Given the description of an element on the screen output the (x, y) to click on. 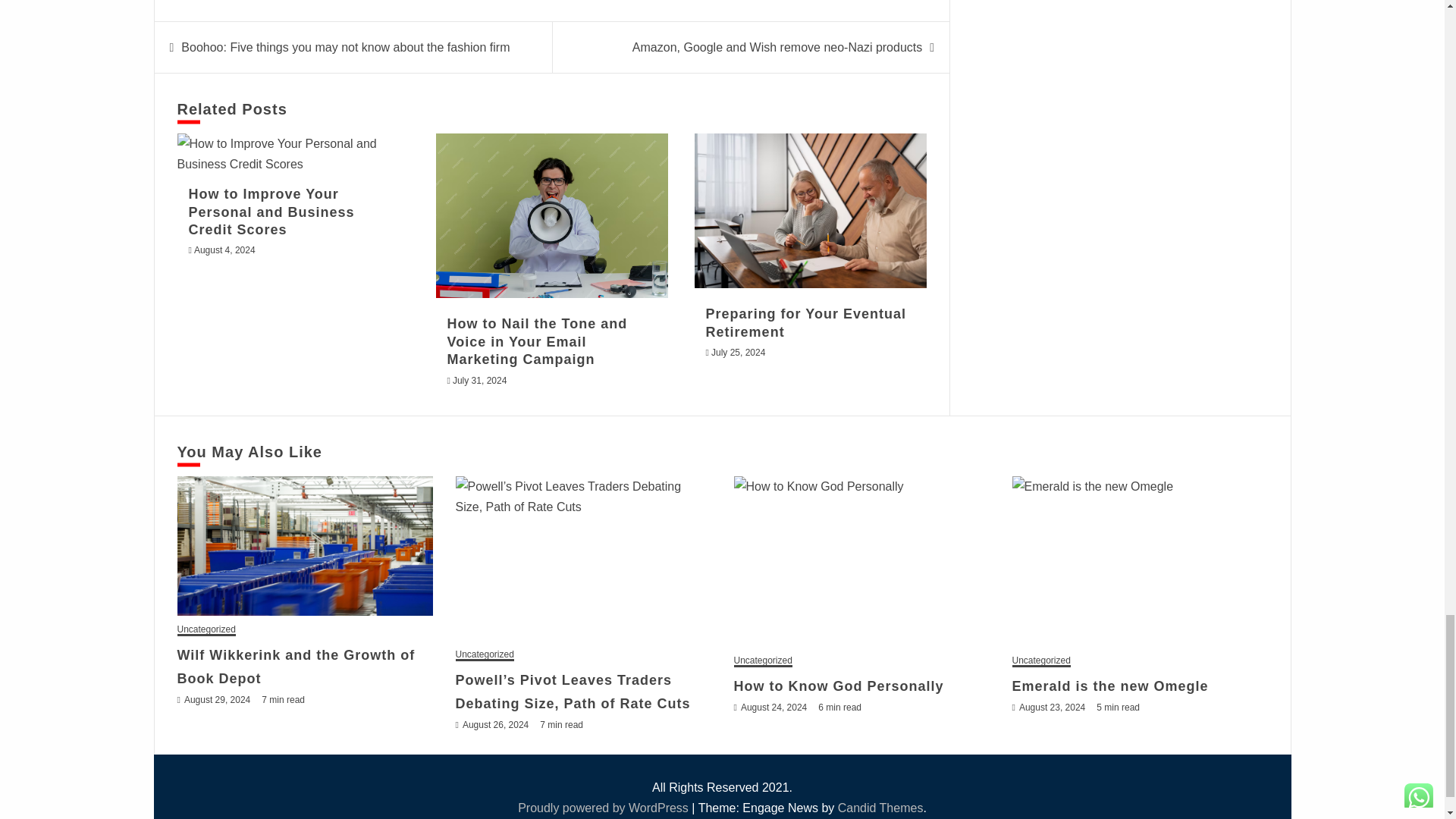
Preparing for Your Eventual Retirement (810, 210)
How to Know God Personally (861, 561)
How to Improve Your Personal and Business Credit Scores (293, 153)
Wilf Wikkerink and the Growth of Book Depot (304, 545)
